Given the description of an element on the screen output the (x, y) to click on. 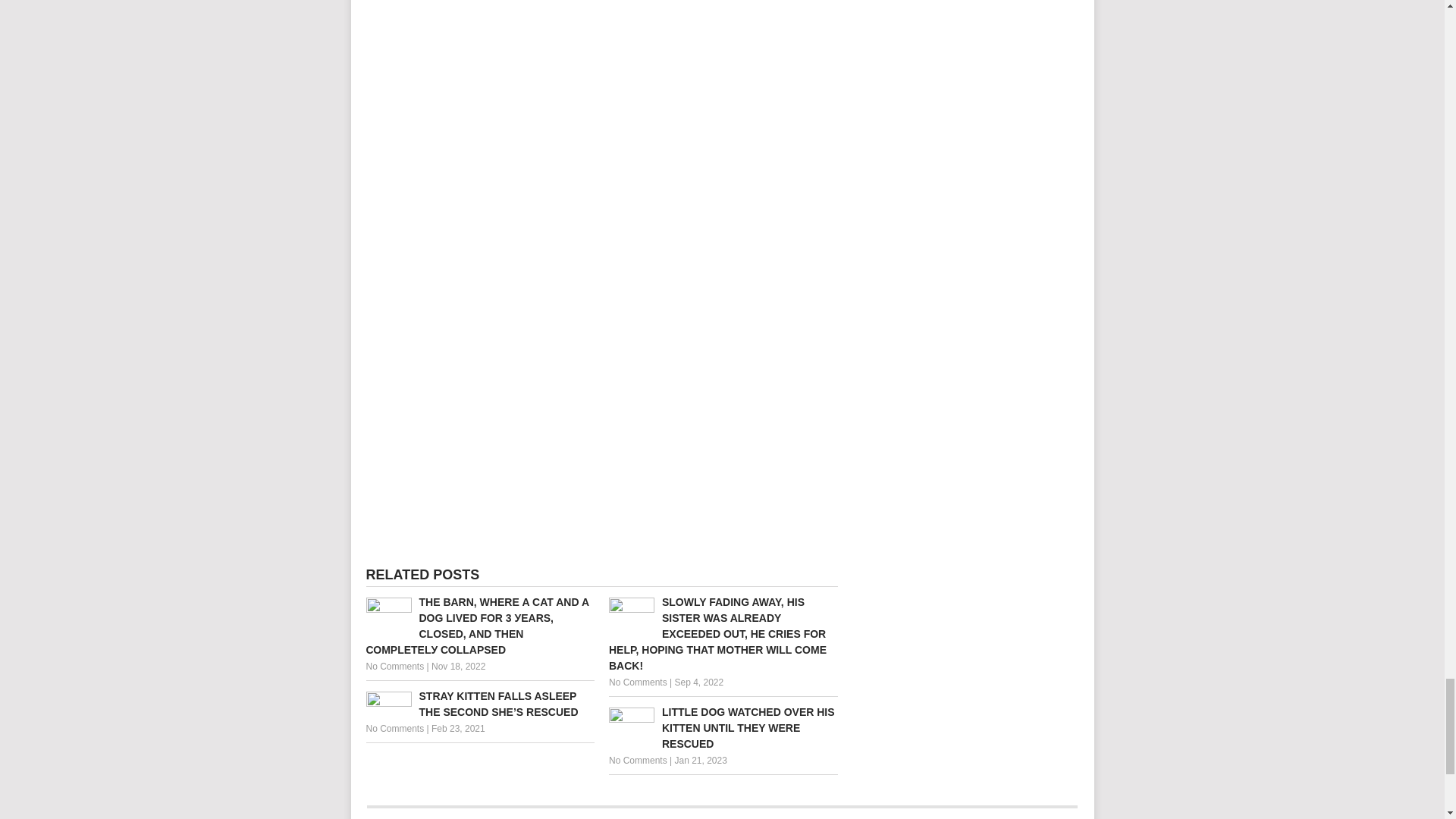
Little Dog Watched Over His Kitten Until They Were Rescued (723, 728)
No Comments (637, 760)
No Comments (637, 682)
No Comments (394, 728)
LITTLE DOG WATCHED OVER HIS KITTEN UNTIL THEY WERE RESCUED (723, 728)
No Comments (394, 665)
